Given the description of an element on the screen output the (x, y) to click on. 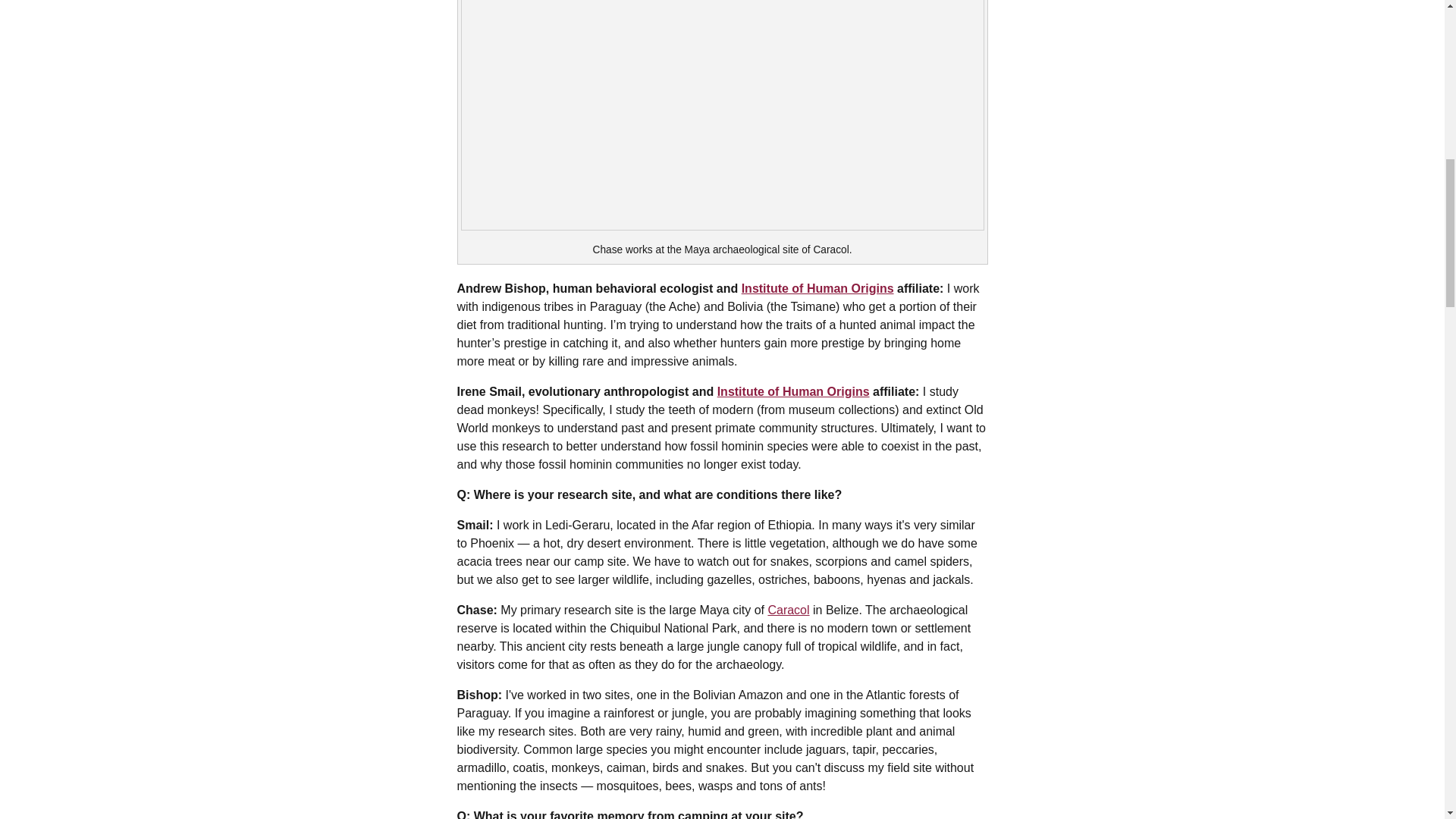
Caracol (788, 609)
Institute of Human Origins (793, 391)
Institute of Human Origins (817, 287)
Chase at Caracol (722, 115)
